Given the description of an element on the screen output the (x, y) to click on. 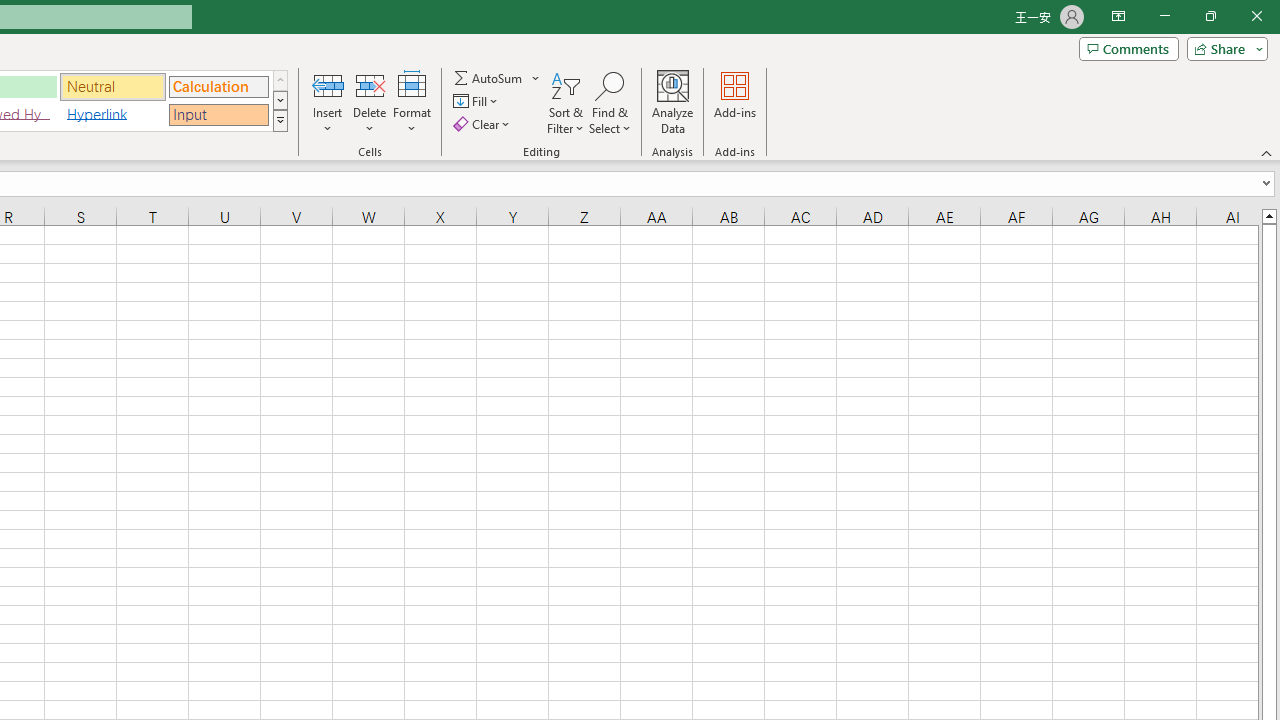
Comments (1128, 48)
Delete Cells... (369, 84)
Share (1223, 48)
Restore Down (1210, 16)
Hyperlink (113, 114)
Sum (489, 78)
AutoSum (497, 78)
Row Down (280, 100)
Collapse the Ribbon (1267, 152)
Row up (280, 79)
Insert Cells (328, 84)
Sort & Filter (566, 102)
More Options (536, 78)
